Given the description of an element on the screen output the (x, y) to click on. 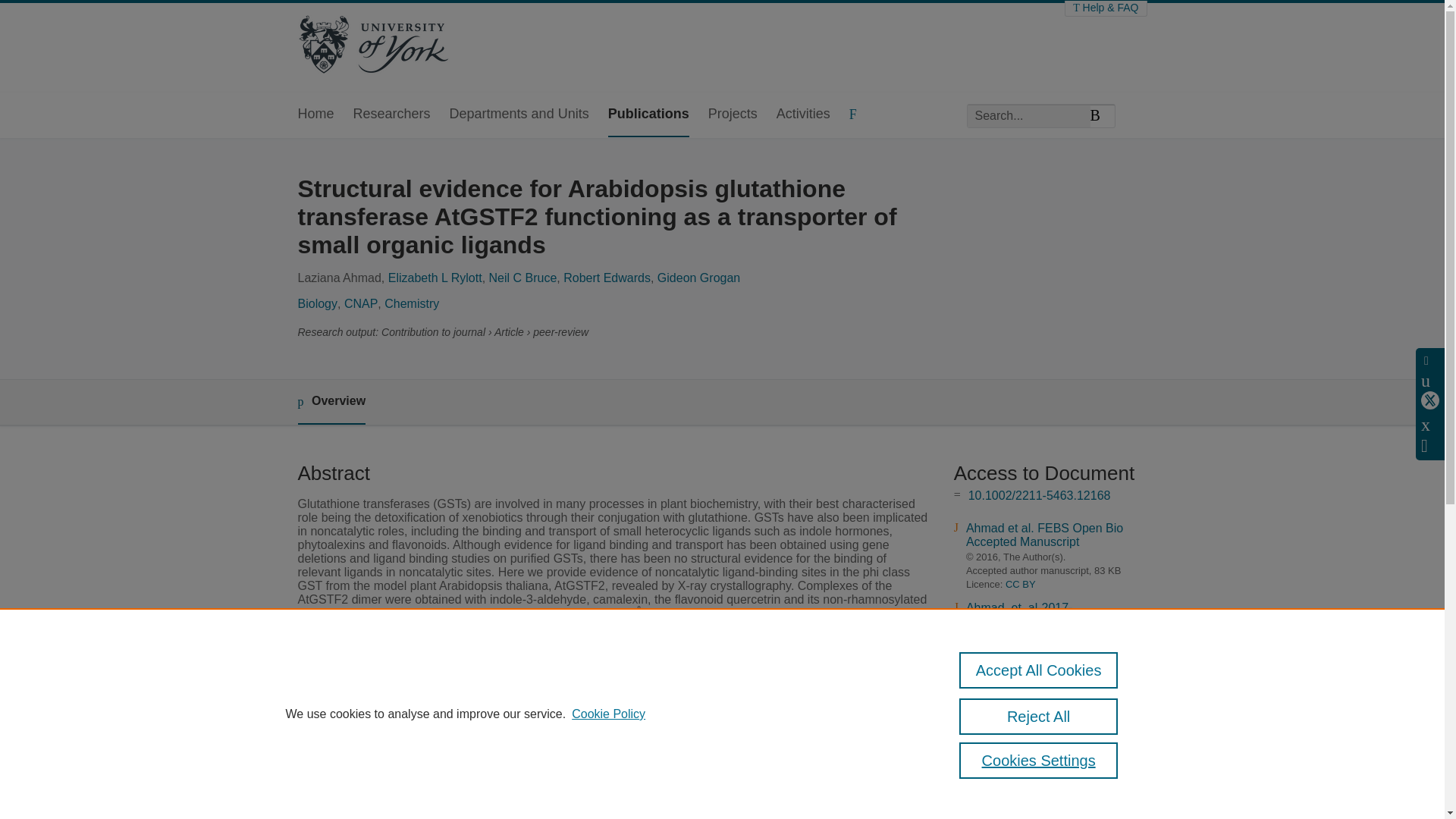
Neil C Bruce (523, 277)
Robert Edwards (606, 277)
Biology (316, 303)
Elizabeth L Rylott (434, 277)
CC BY (1020, 583)
FEBS open bio (552, 785)
Overview (331, 402)
Projects (732, 114)
Departments and Units (519, 114)
